Given the description of an element on the screen output the (x, y) to click on. 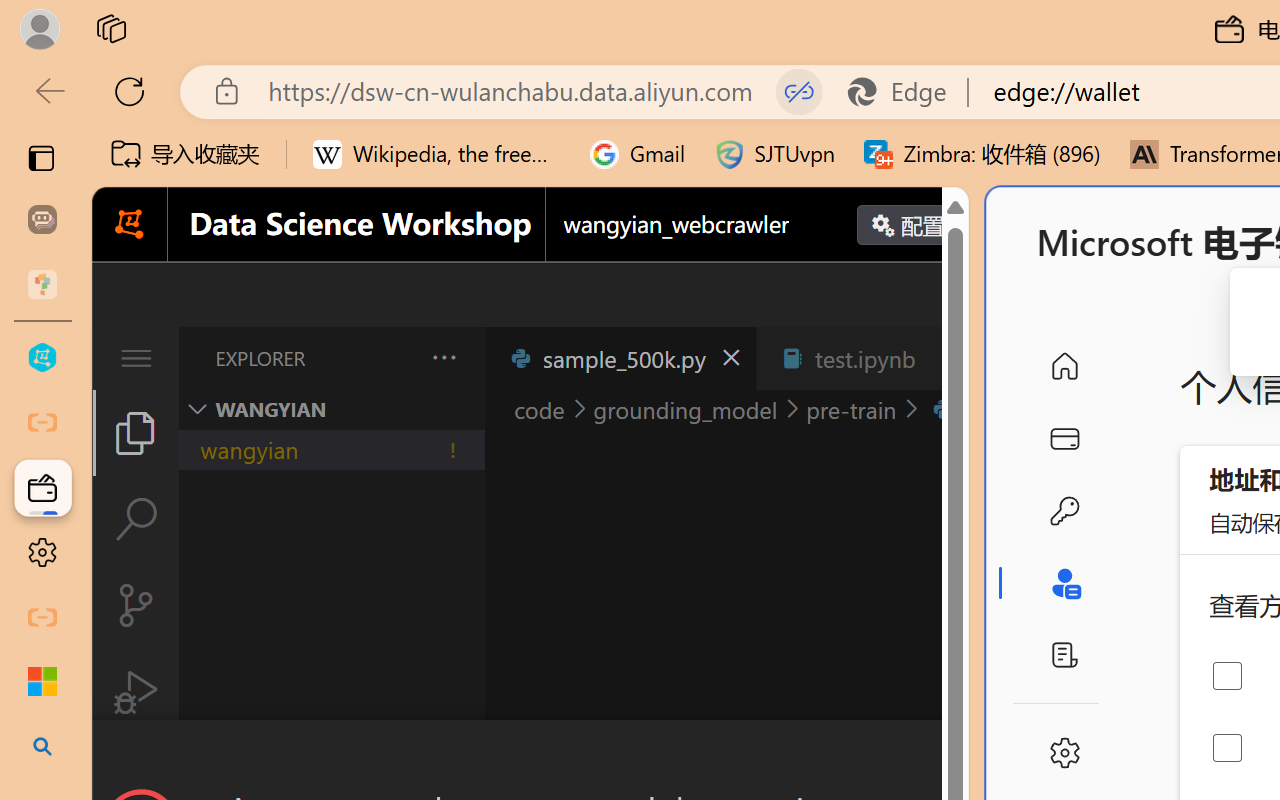
Run and Debug (Ctrl+Shift+D) (135, 692)
Application Menu (135, 358)
Source Control (Ctrl+Shift+G) (135, 604)
